Given the description of an element on the screen output the (x, y) to click on. 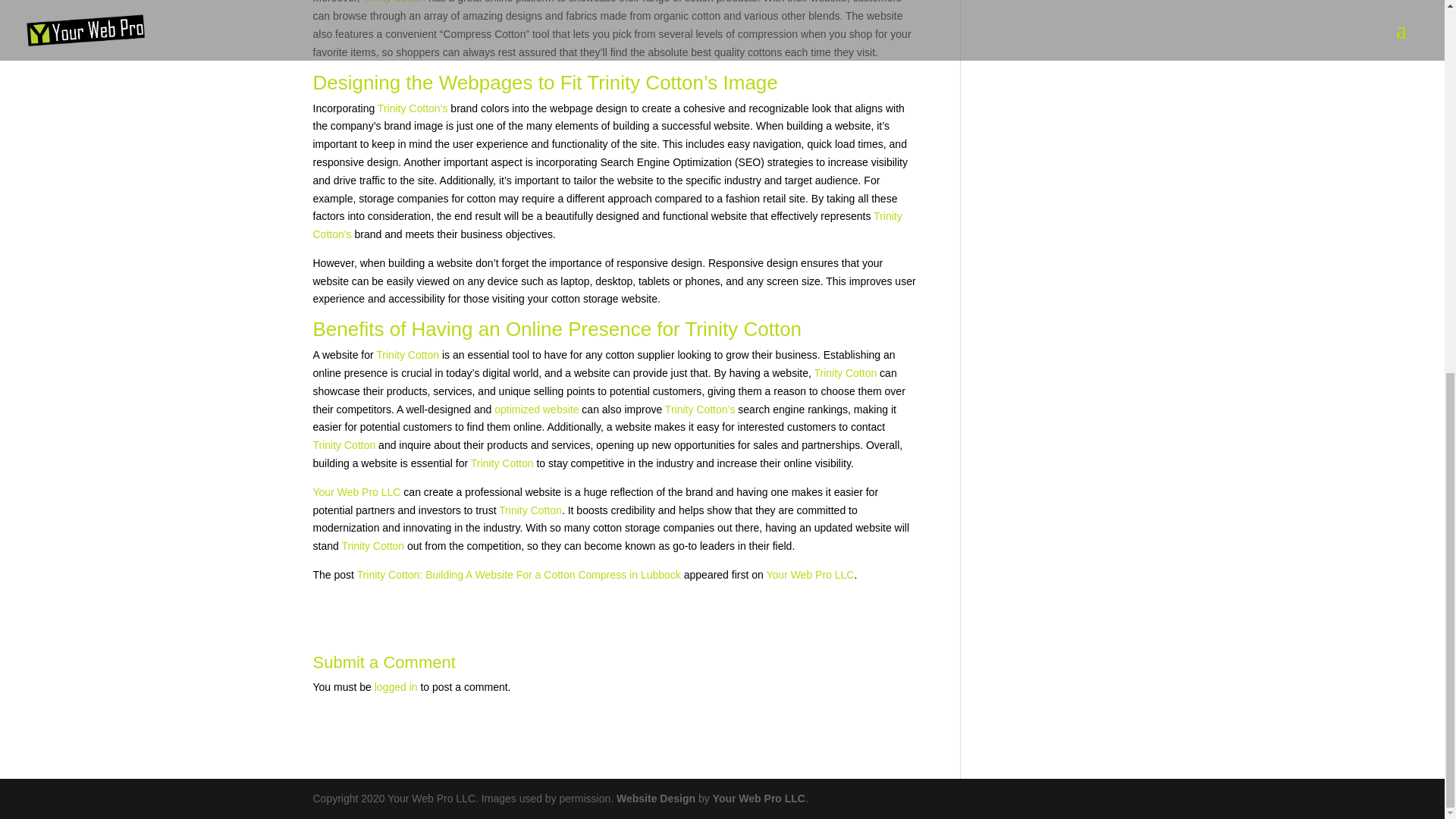
Trinity Cotton (372, 545)
optimized website (536, 409)
Trinity Cotton (407, 354)
Trinity Cotton (530, 510)
Trinity Cotton (743, 328)
Trinity Cotton (844, 372)
Trinity Cotton (393, 2)
Website Design (655, 798)
logged in (395, 686)
Trinity Cotton (344, 444)
Your Web Pro LLC (356, 491)
Trinity Cotton (502, 463)
Your Web Pro LLC (809, 574)
